Given the description of an element on the screen output the (x, y) to click on. 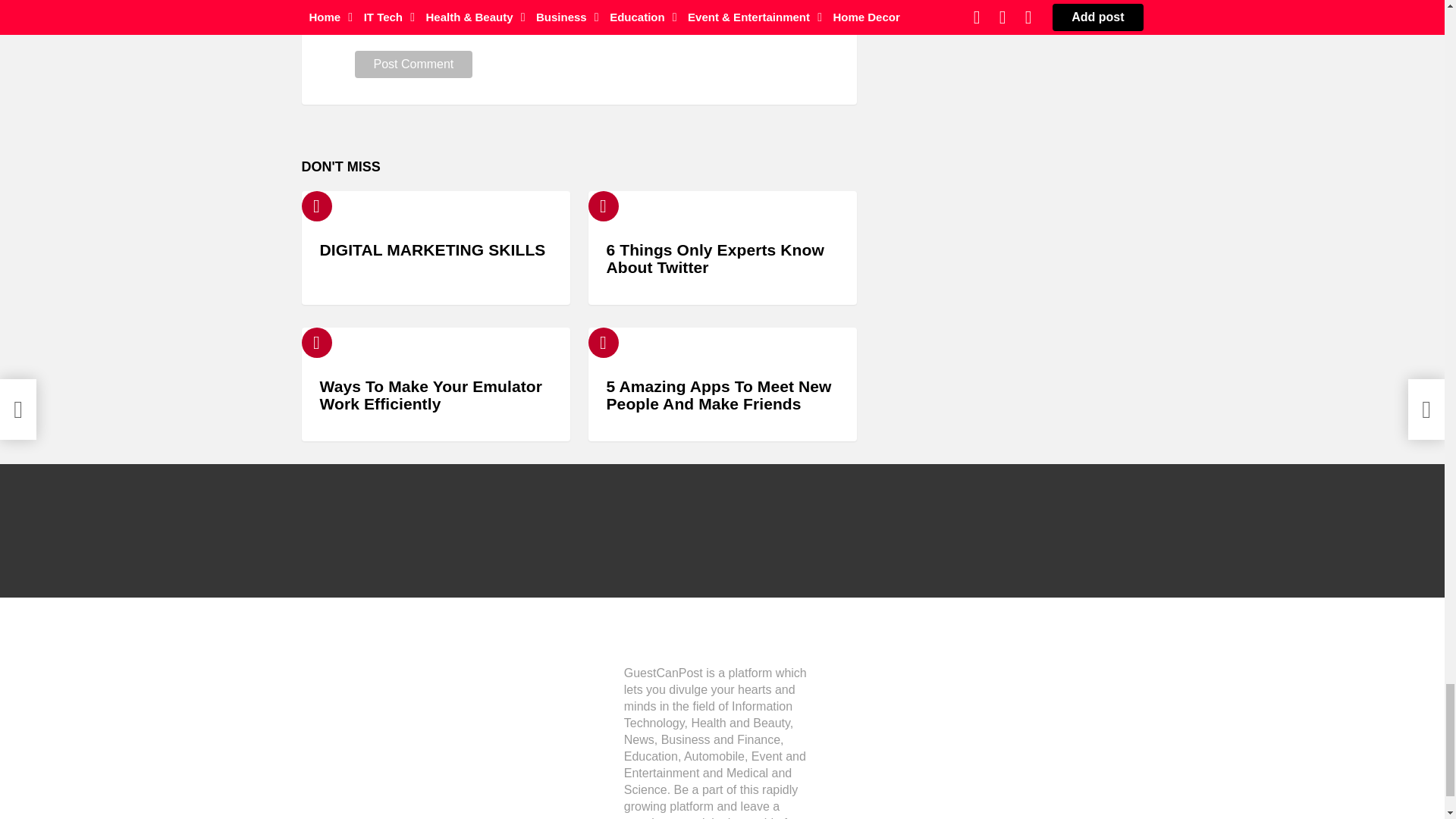
Post Comment (414, 63)
yes (360, 26)
